Given the description of an element on the screen output the (x, y) to click on. 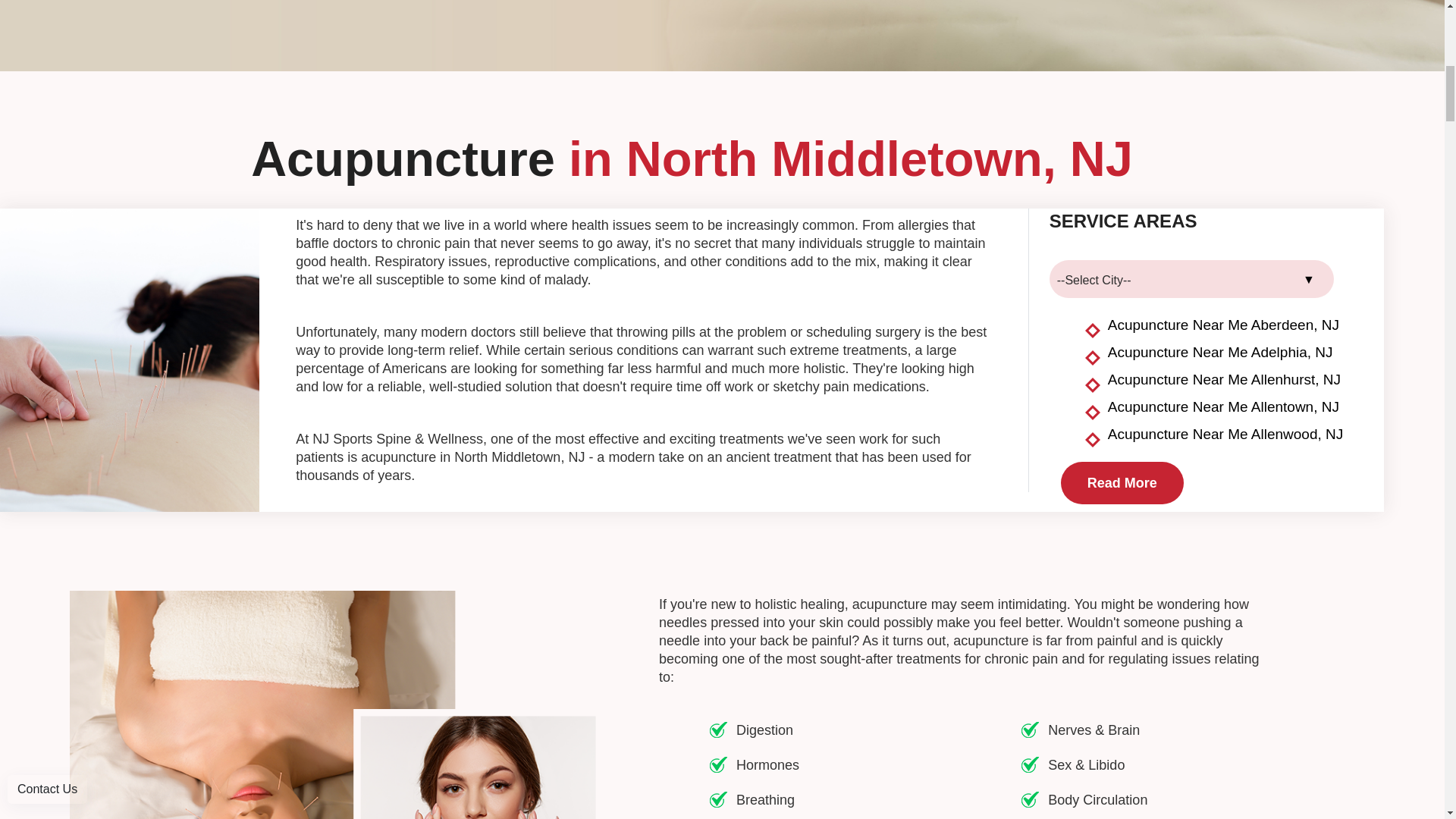
Acupuncture Near Me Allenwood, NJ (1225, 436)
Acupuncture Near Me Allentown, NJ (1223, 409)
Acupuncture Near Me Adelphia, NJ (1220, 354)
Acupuncture Near Me Allenhurst, NJ (1224, 382)
Acupuncture Near Me Aberdeen, NJ (1223, 327)
